Given the description of an element on the screen output the (x, y) to click on. 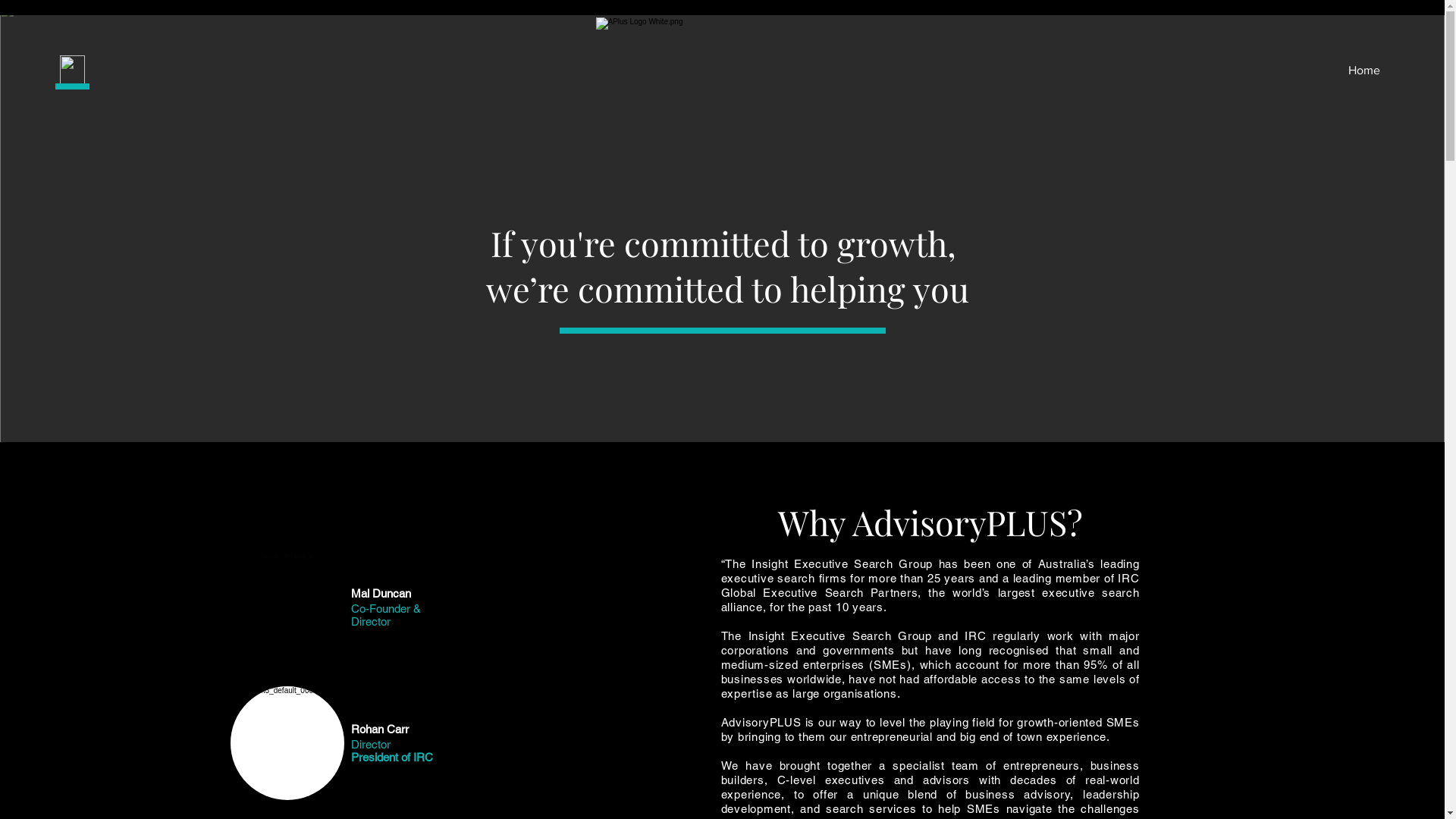
logo.png Element type: hover (723, 69)
GettyImages-145680711.jpg Element type: hover (287, 743)
GettyImages-124893619.jpg Element type: hover (287, 608)
Home Element type: text (1262, 70)
